Given the description of an element on the screen output the (x, y) to click on. 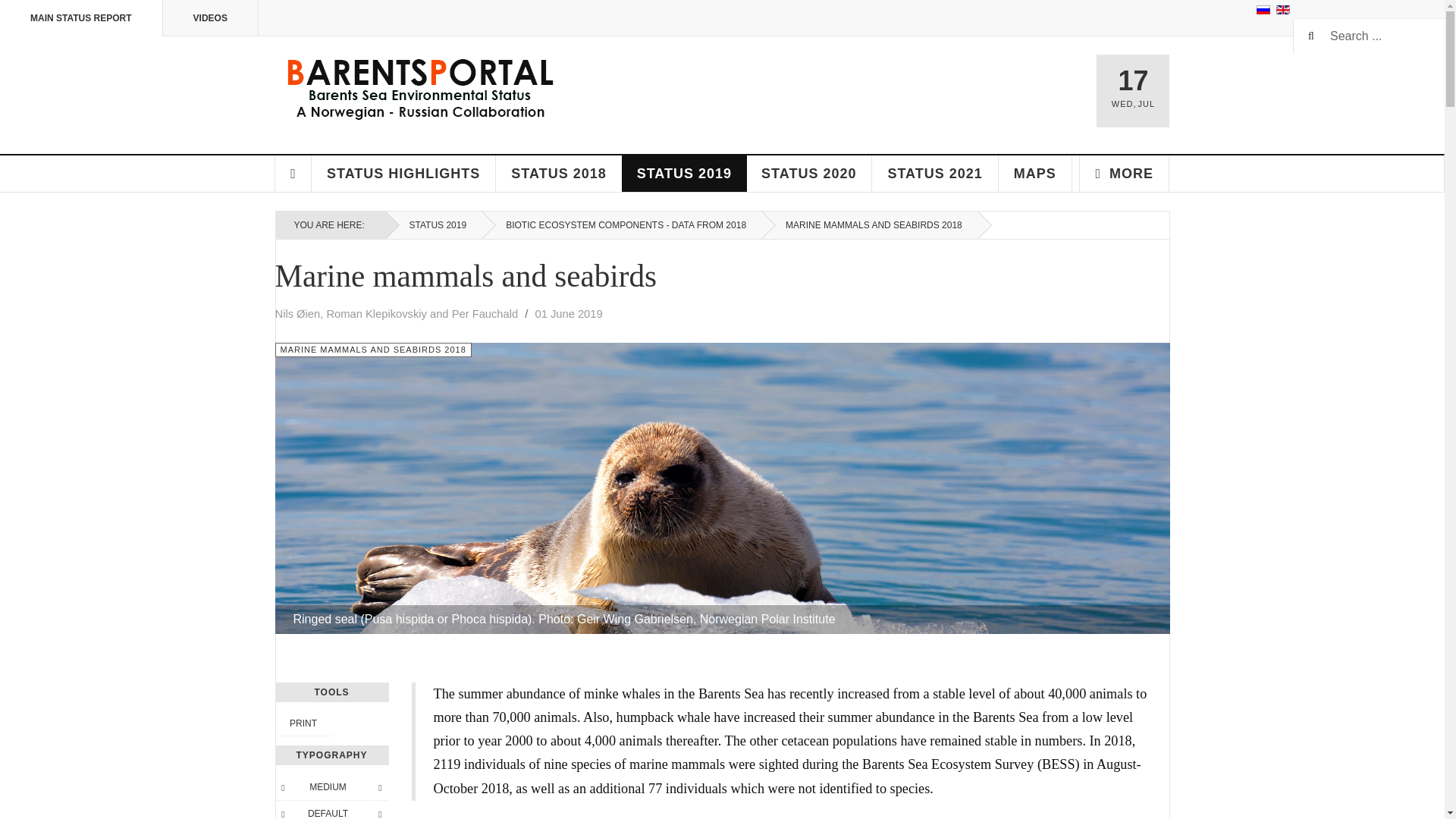
Next Font Style (379, 812)
HOME (293, 173)
STATUS 2021 (934, 173)
STATUS HIGHLIGHTS (403, 173)
STATUS 2019 (683, 173)
STATUS 2018 (558, 173)
Category:  (372, 350)
MAIN STATUS REPORT (81, 18)
Previous Font Style (283, 812)
Barentsportal (419, 92)
BIOTIC ECOSYSTEM COMPONENTS - DATA FROM 2018 (621, 225)
STATUS 2019 (434, 225)
MAPS (1034, 173)
STATUS 2020 (808, 173)
Smaller Font (283, 786)
